Given the description of an element on the screen output the (x, y) to click on. 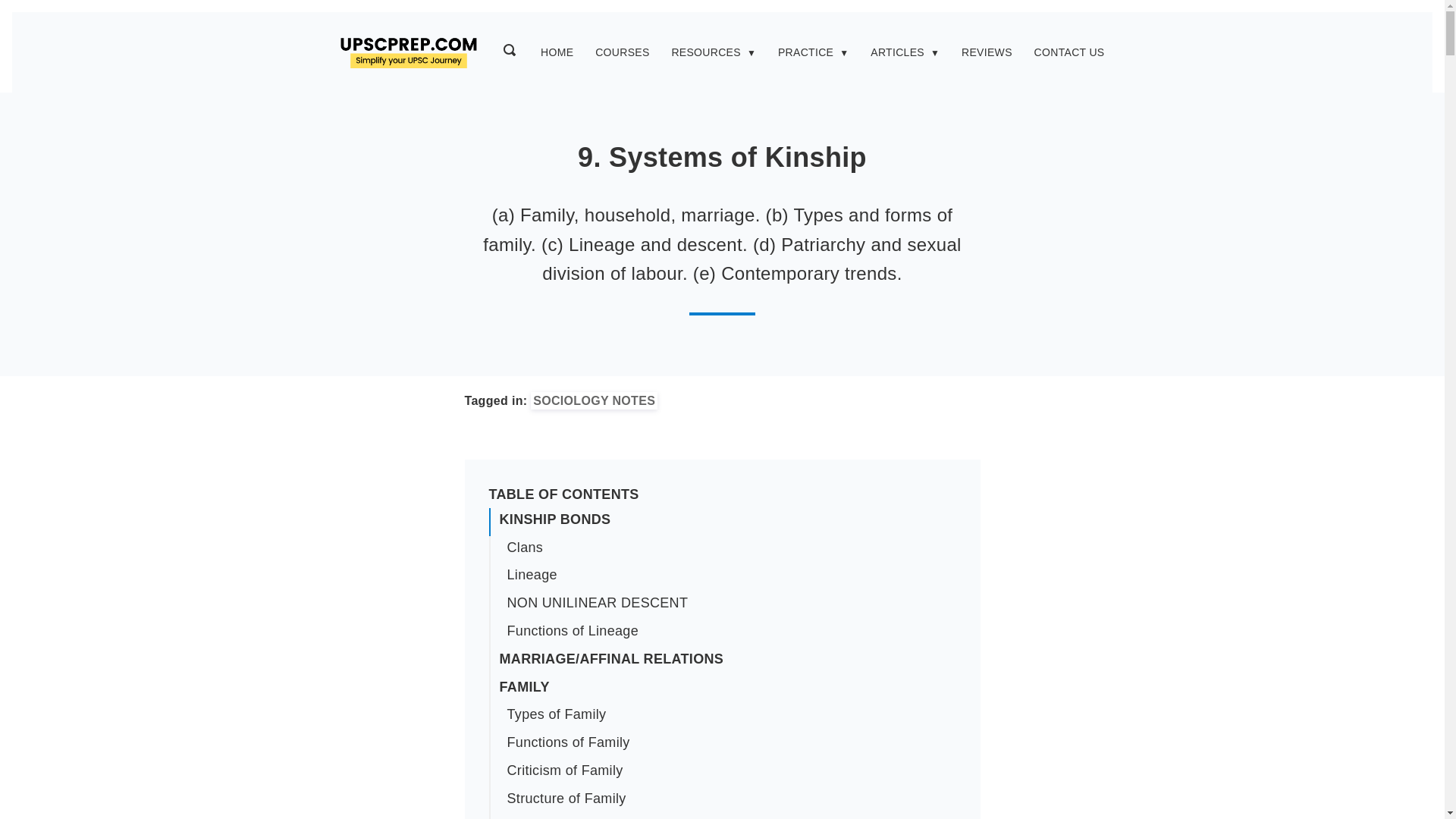
CONTACT US (1069, 53)
Clans (729, 547)
SOCIOLOGY NOTES (594, 400)
Functions of Lineage (729, 631)
NON UNILINEAR DESCENT (729, 602)
Functions of Family (729, 742)
FAMILY (725, 687)
Structure of Family (729, 798)
Types of Family (729, 714)
REVIEWS (985, 53)
HOME (556, 53)
COURSES (622, 53)
Lineage (729, 574)
ARTICLES (897, 53)
Contemporary Trends in Family (729, 816)
